Given the description of an element on the screen output the (x, y) to click on. 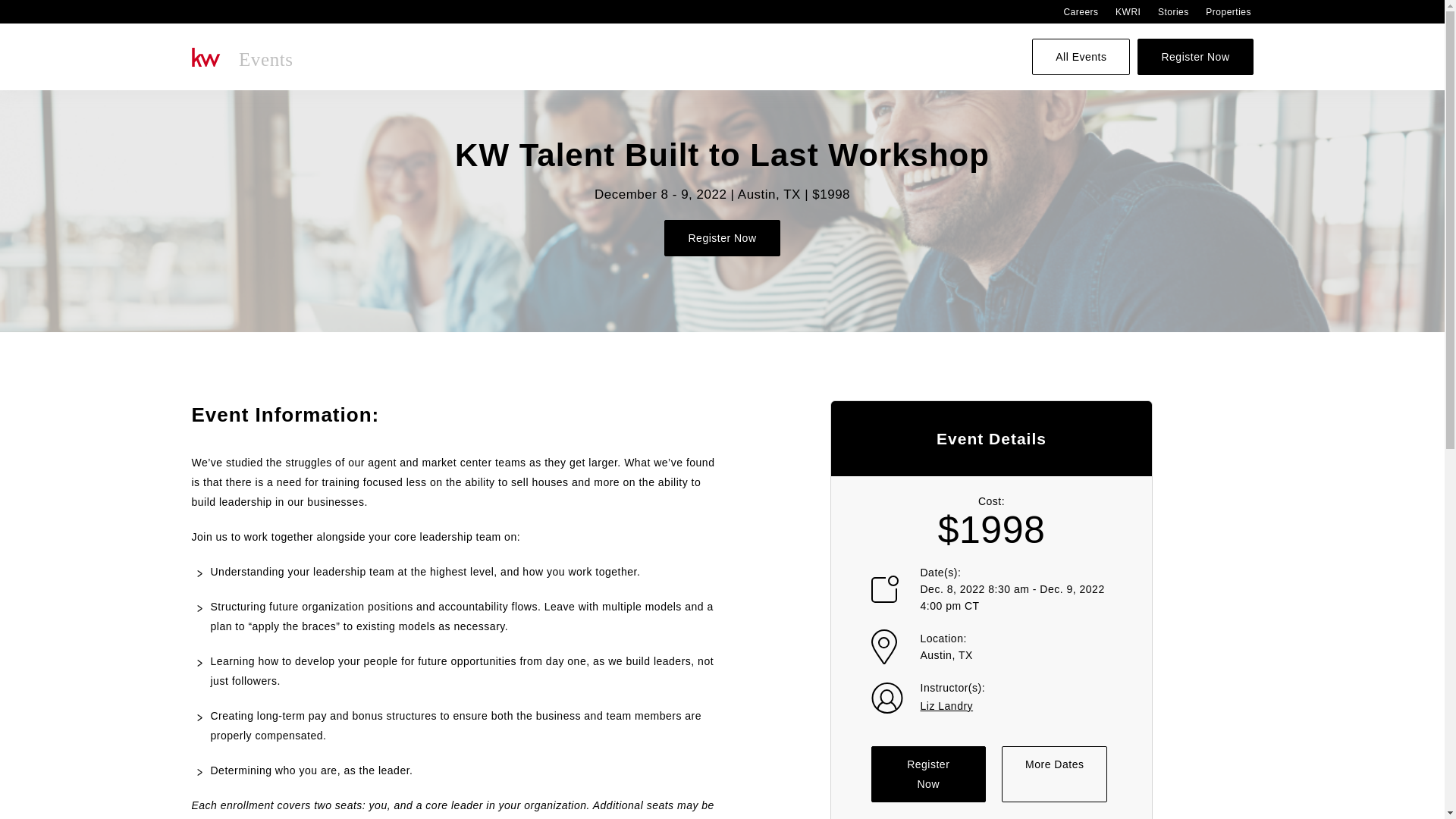
Register Now (927, 774)
Liz Landry (947, 705)
Properties (1227, 10)
More Dates (1053, 774)
Stories (1173, 10)
Events (243, 56)
Events (243, 56)
All Events (1080, 56)
Careers (1079, 10)
Register Now (720, 238)
